Given the description of an element on the screen output the (x, y) to click on. 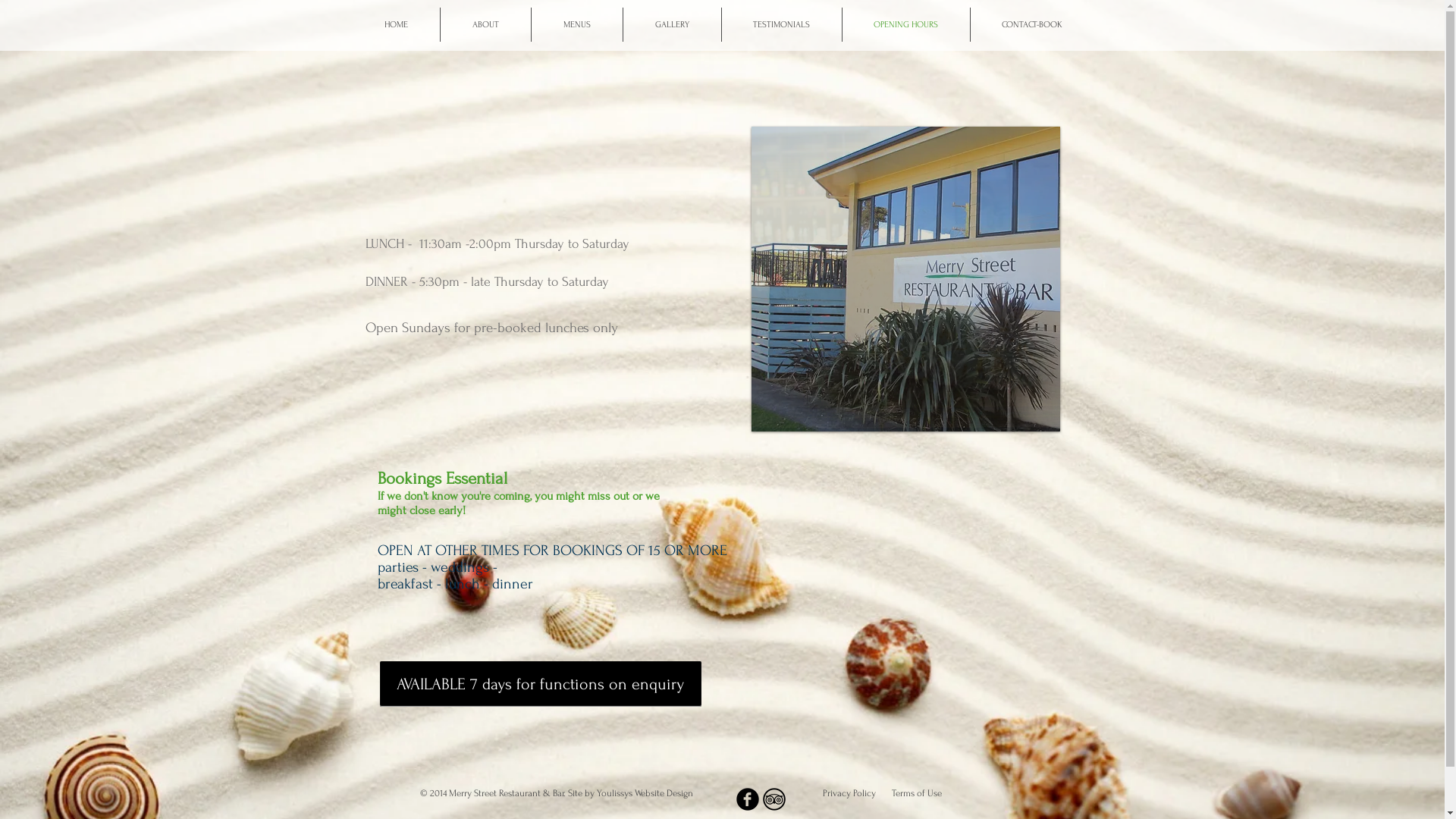
Terms of Use Element type: text (916, 792)
TESTIMONIALS Element type: text (781, 24)
ABOUT Element type: text (484, 24)
GALLERY Element type: text (672, 24)
OPENING HOURS Element type: text (905, 24)
Privacy Policy   Element type: text (850, 792)
HOME Element type: text (395, 24)
CONTACT-BOOK Element type: text (1032, 24)
AVAILABLE 7 days for functions on enquiry Element type: text (539, 683)
MENUS Element type: text (575, 24)
